Given the description of an element on the screen output the (x, y) to click on. 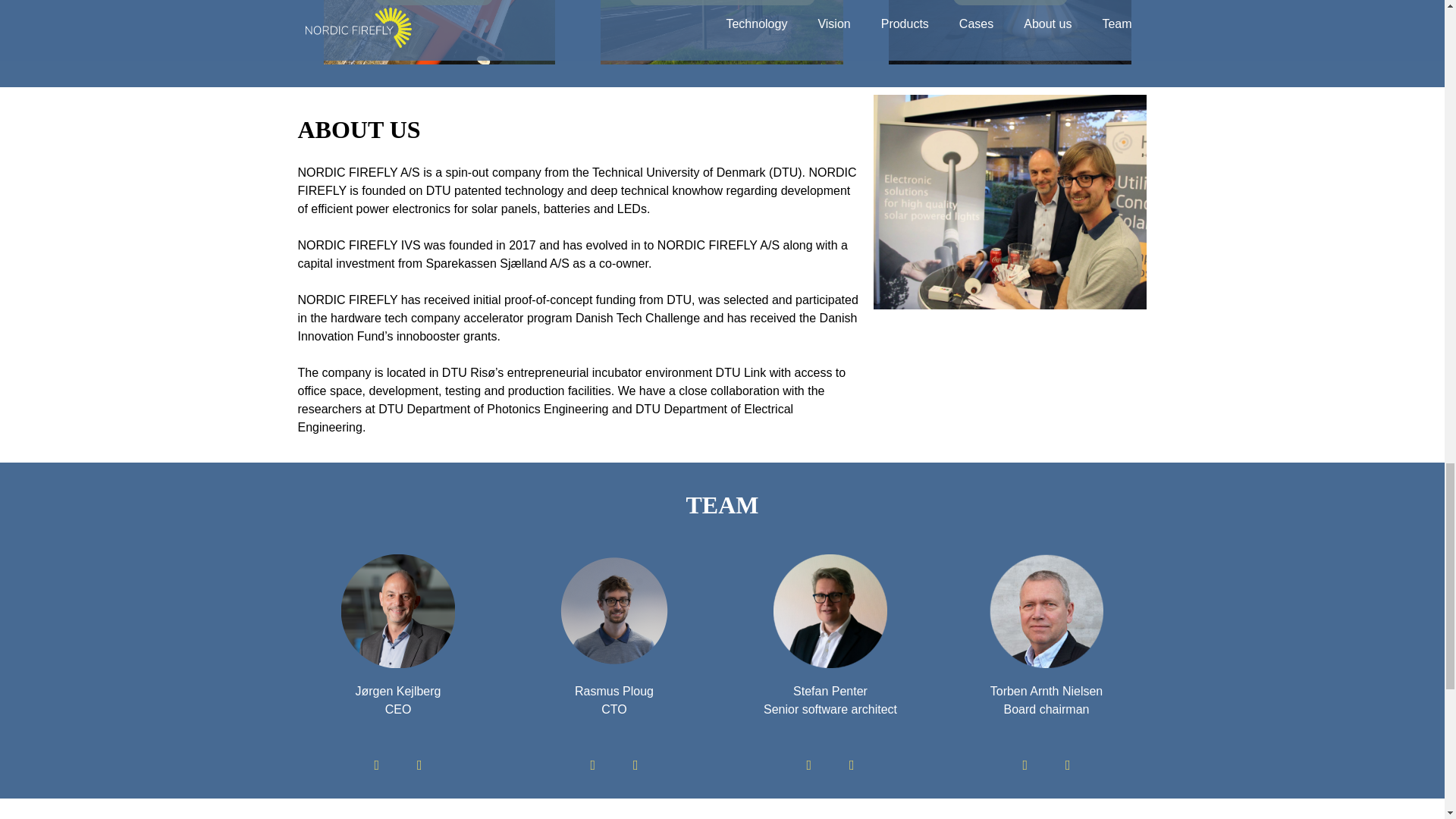
PATH AND STREET LIGHTING (721, 2)
BICYCLE STAND (1010, 2)
RESCUE LADDER (434, 2)
